Given the description of an element on the screen output the (x, y) to click on. 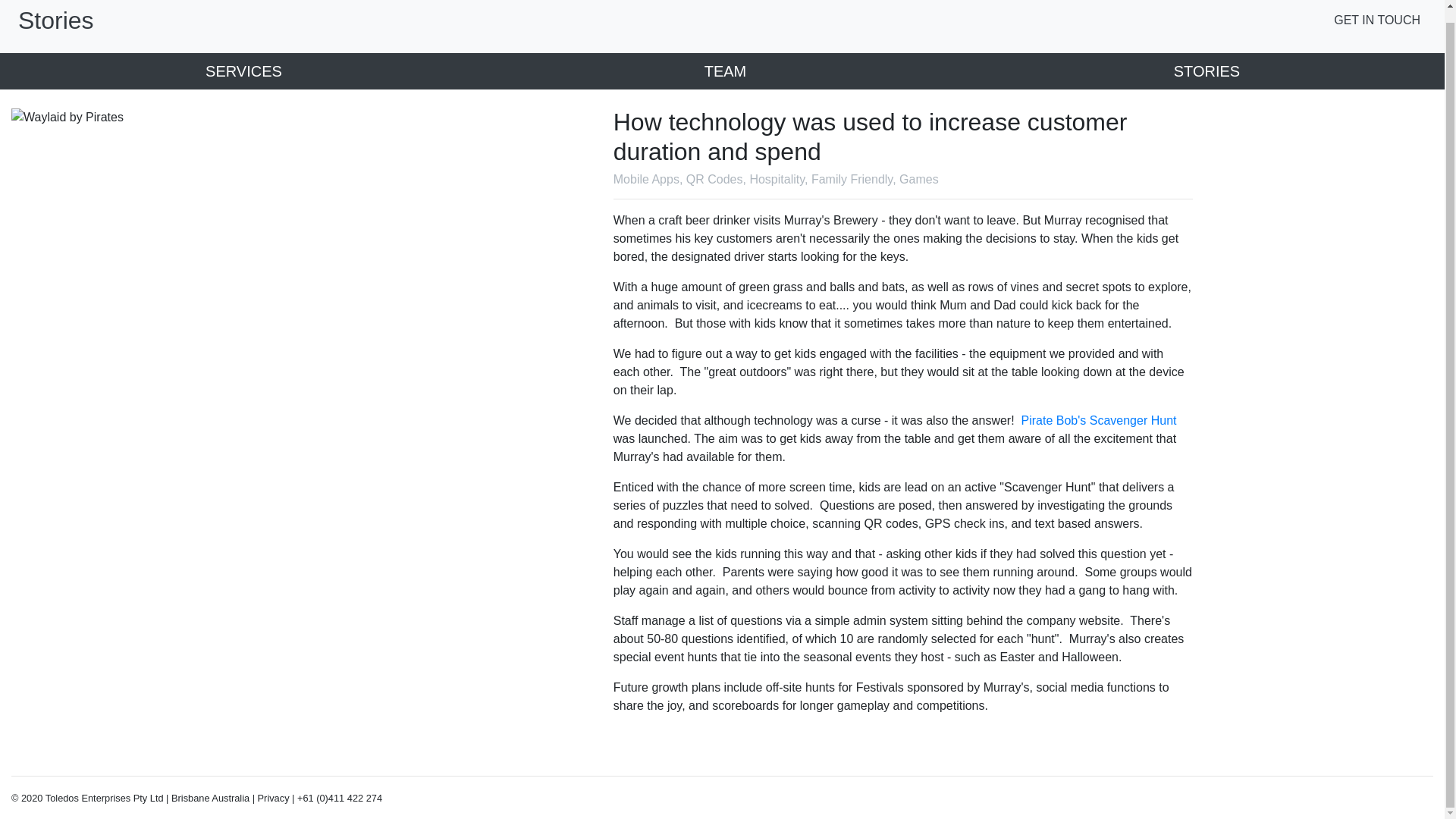
Privacy (273, 797)
TEAM (721, 71)
SERVICES (240, 71)
Pirate Bob's Scavenger Hunt (1099, 420)
GET IN TOUCH (1379, 20)
